Given the description of an element on the screen output the (x, y) to click on. 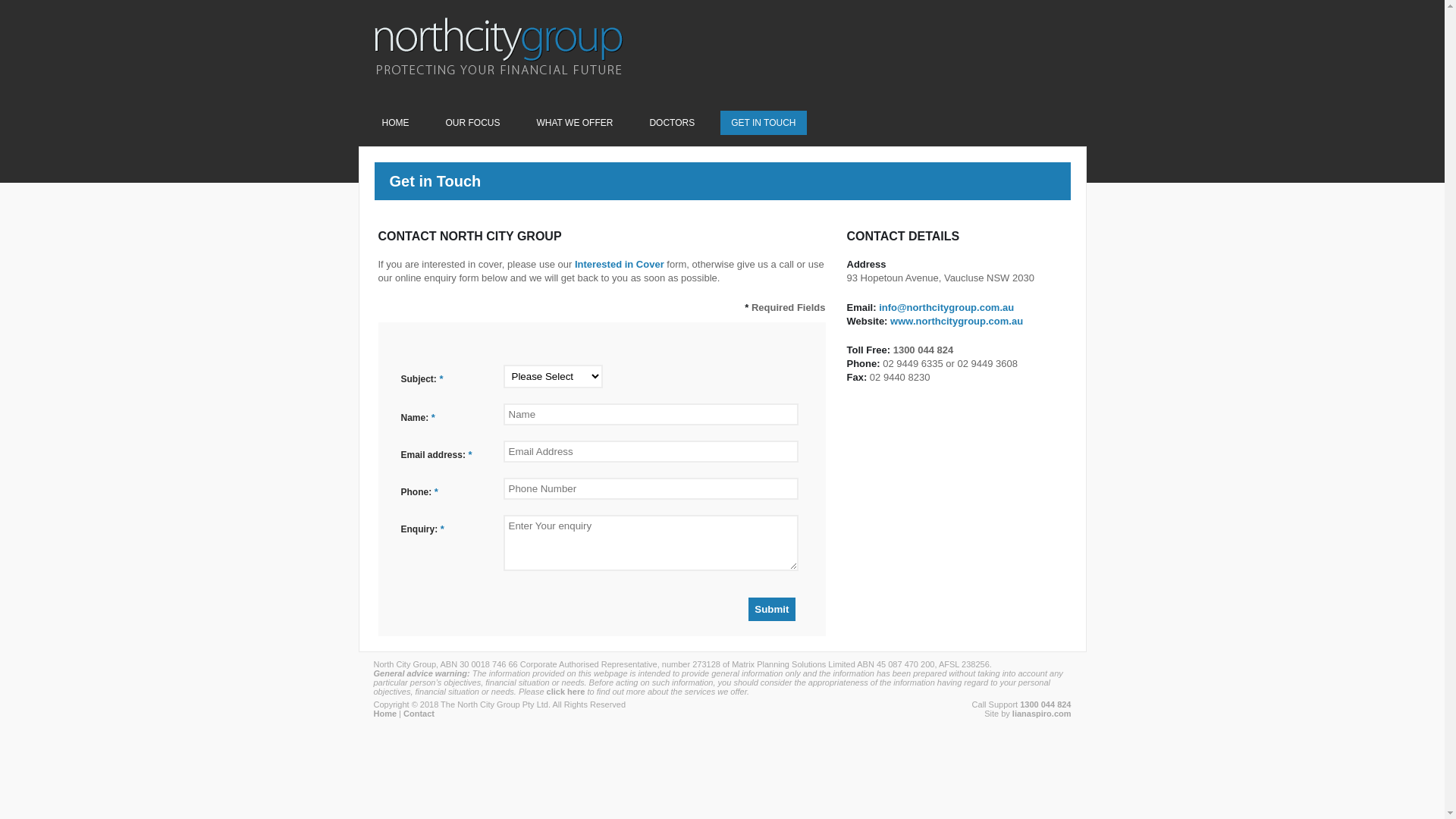
OUR FOCUS Element type: text (473, 122)
info@northcitygroup.com.au Element type: text (945, 307)
GET IN TOUCH Element type: text (763, 122)
WHAT WE OFFER Element type: text (575, 122)
Contact Element type: text (418, 713)
www.northcitygroup.com.au Element type: text (956, 320)
Home Element type: text (384, 713)
lianaspiro.com Element type: text (1041, 713)
Submit Element type: text (771, 609)
click here Element type: text (565, 691)
DOCTORS Element type: text (671, 122)
Interested in Cover Element type: text (619, 263)
HOME Element type: text (395, 122)
